Given the description of an element on the screen output the (x, y) to click on. 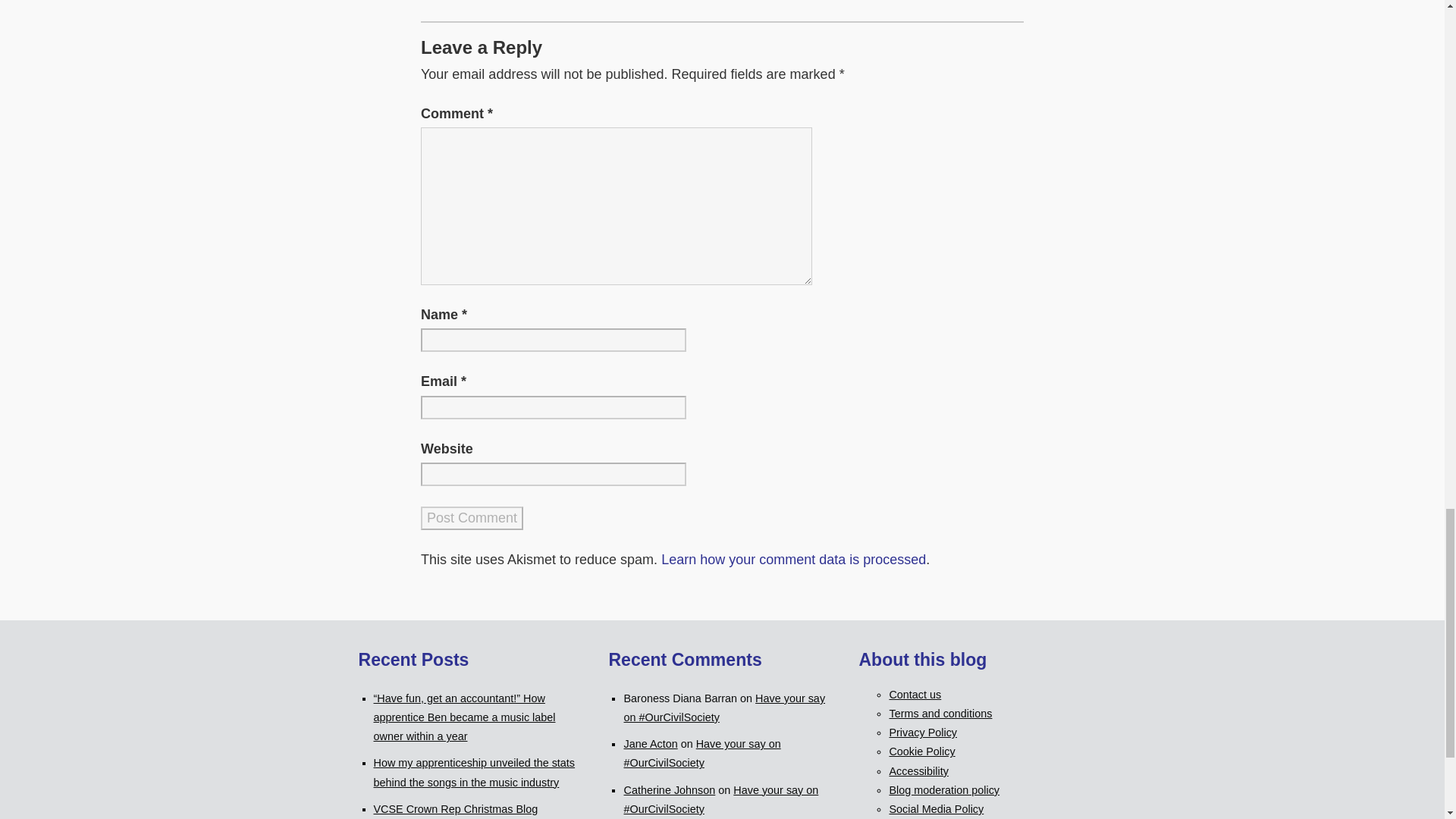
Post Comment (471, 517)
Catherine Johnson (668, 789)
Terms and conditions (939, 713)
Post Comment (471, 517)
VCSE Crown Rep Christmas Blog (454, 808)
Contact us (914, 694)
Learn how your comment data is processed (793, 559)
Jane Acton (650, 743)
